Given the description of an element on the screen output the (x, y) to click on. 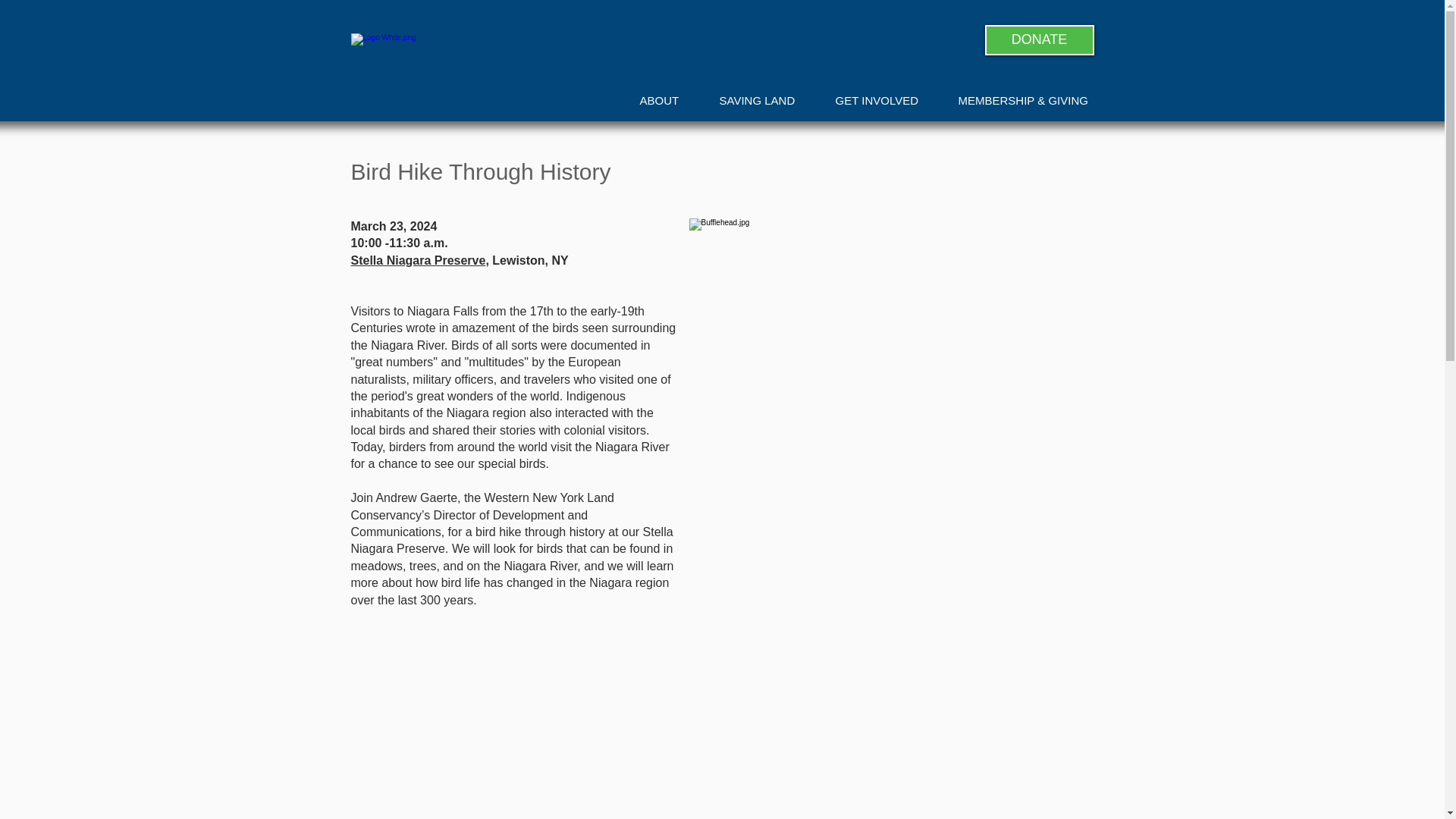
Stella Niagara Preserve (417, 259)
Logo.jpg (466, 60)
DONATE (1038, 40)
